Given the description of an element on the screen output the (x, y) to click on. 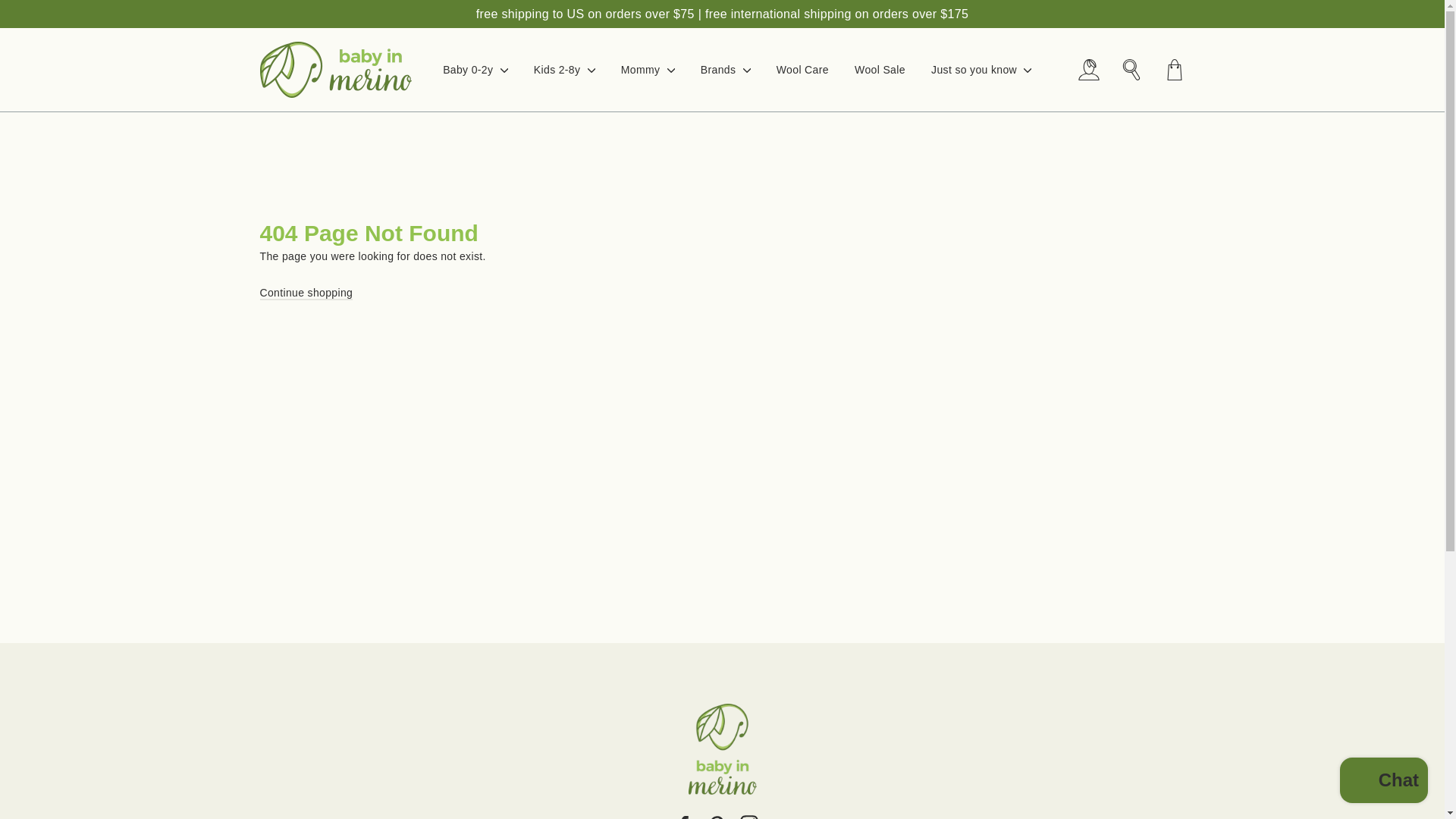
Baby in Merino on Facebook (684, 816)
Baby in Merino on Instagram (748, 816)
Shopify online store chat (1383, 781)
Baby in Merino on Pinterest (716, 816)
